Given the description of an element on the screen output the (x, y) to click on. 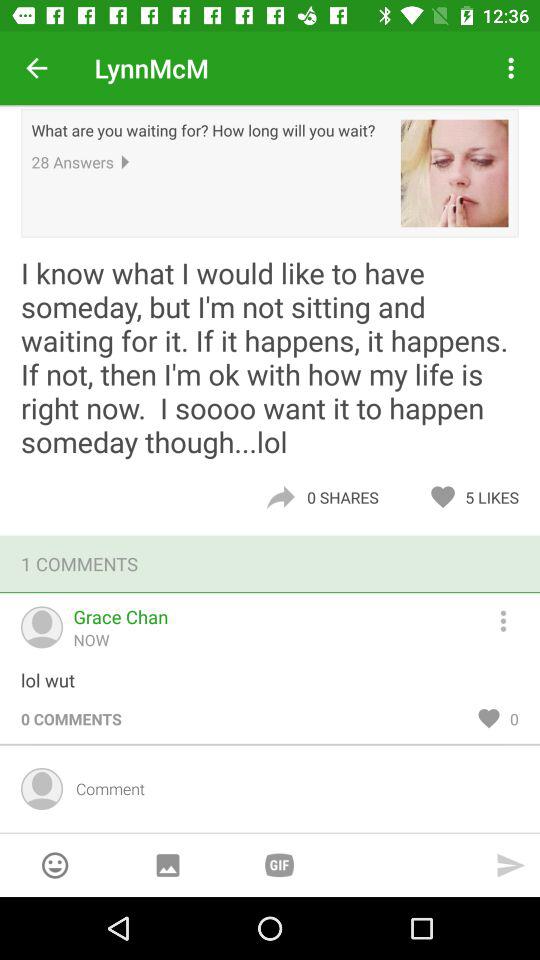
select item next to what are you icon (454, 173)
